Given the description of an element on the screen output the (x, y) to click on. 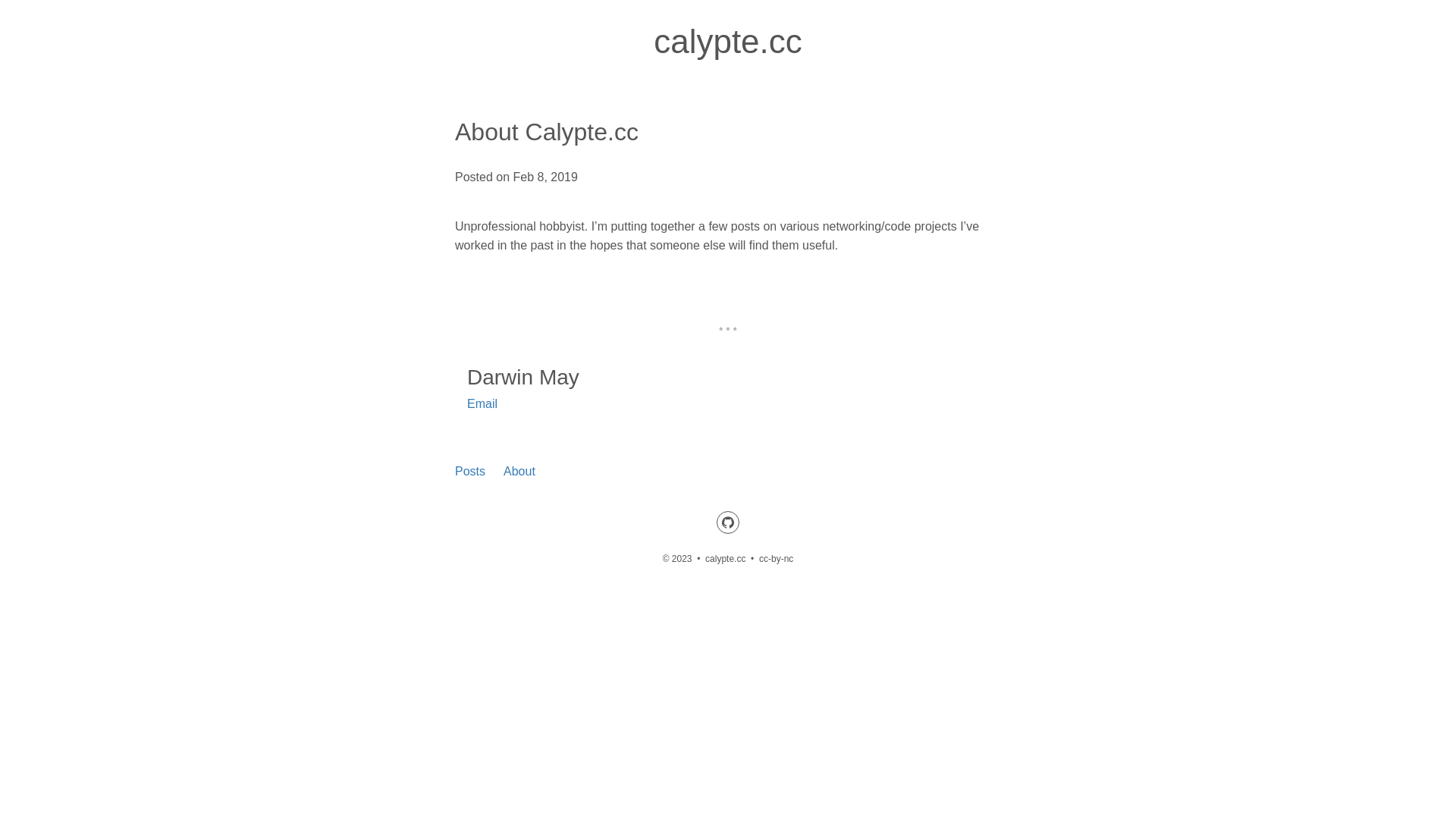
About Element type: text (519, 472)
Skip to content Element type: text (0, 0)
Posts Element type: text (470, 472)
Email Element type: text (482, 403)
calypte.cc Element type: text (727, 40)
